Given the description of an element on the screen output the (x, y) to click on. 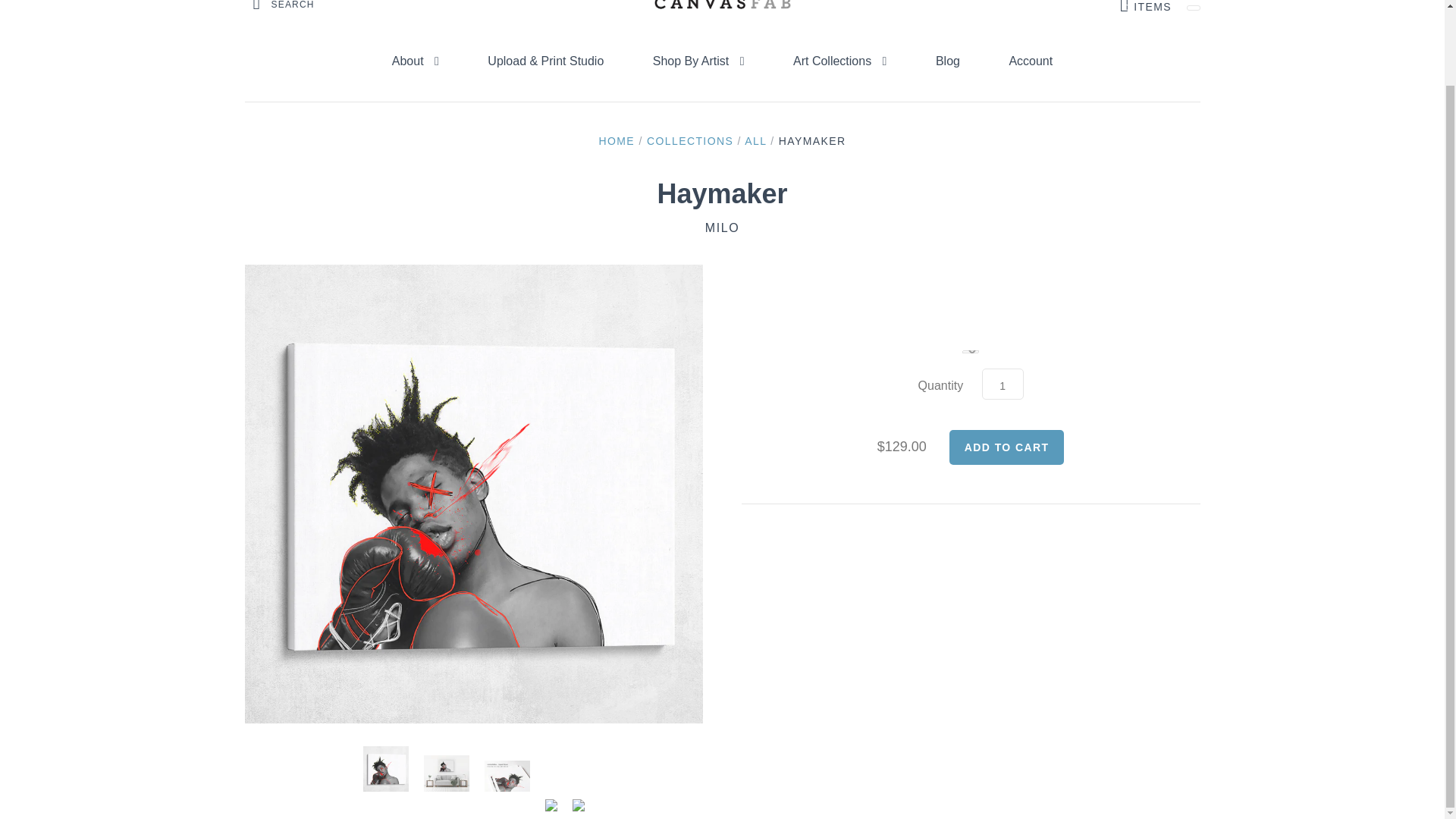
Account (1030, 61)
About (415, 61)
Add to cart (1006, 447)
Add to cart (1006, 447)
COLLECTIONS (689, 141)
ALL (755, 141)
MILO (721, 228)
Art Collections (839, 61)
1 (1002, 383)
Blog (947, 61)
Shop By Artist (698, 61)
HOME (616, 141)
